Given the description of an element on the screen output the (x, y) to click on. 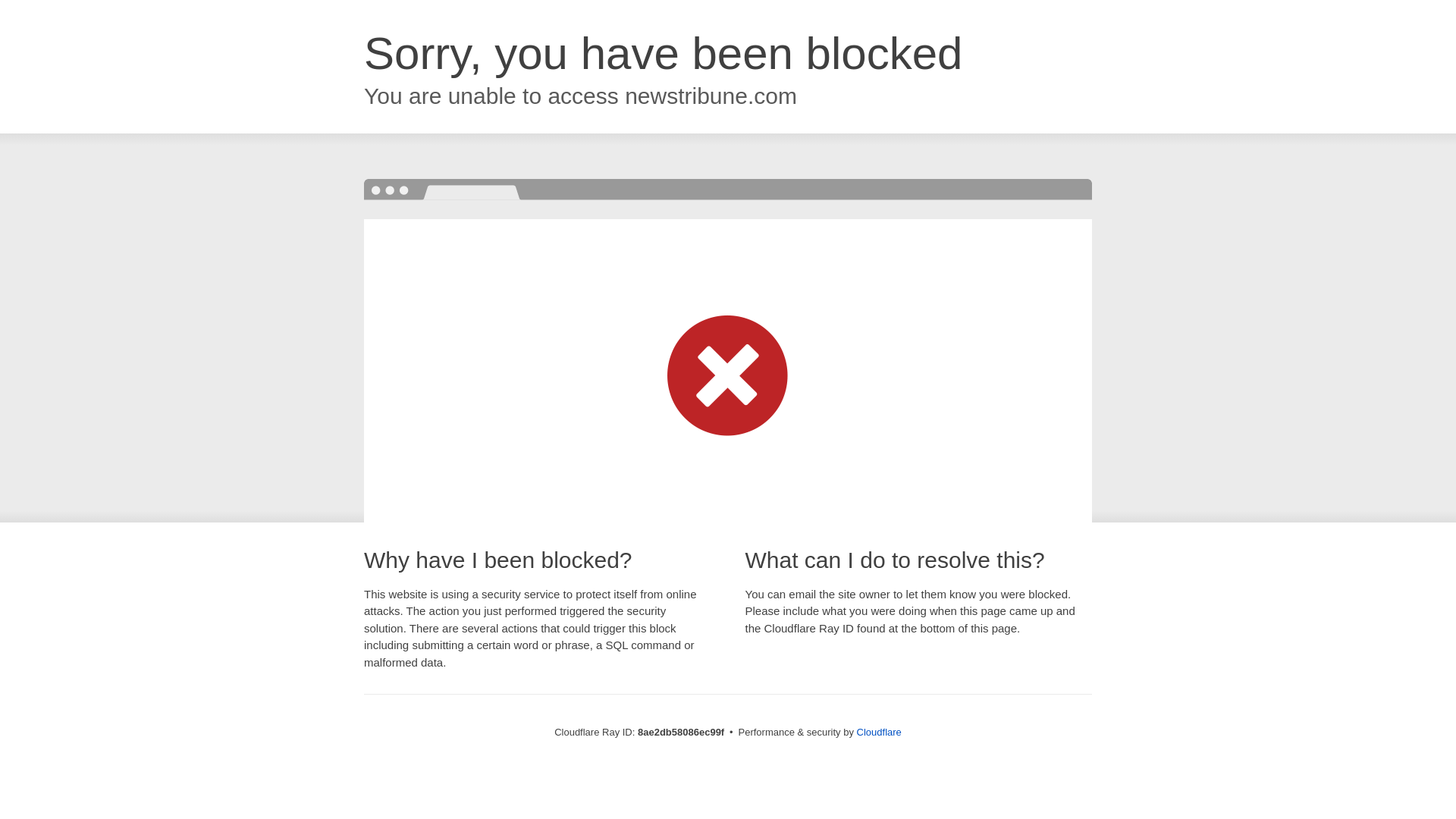
Cloudflare (879, 731)
